Given the description of an element on the screen output the (x, y) to click on. 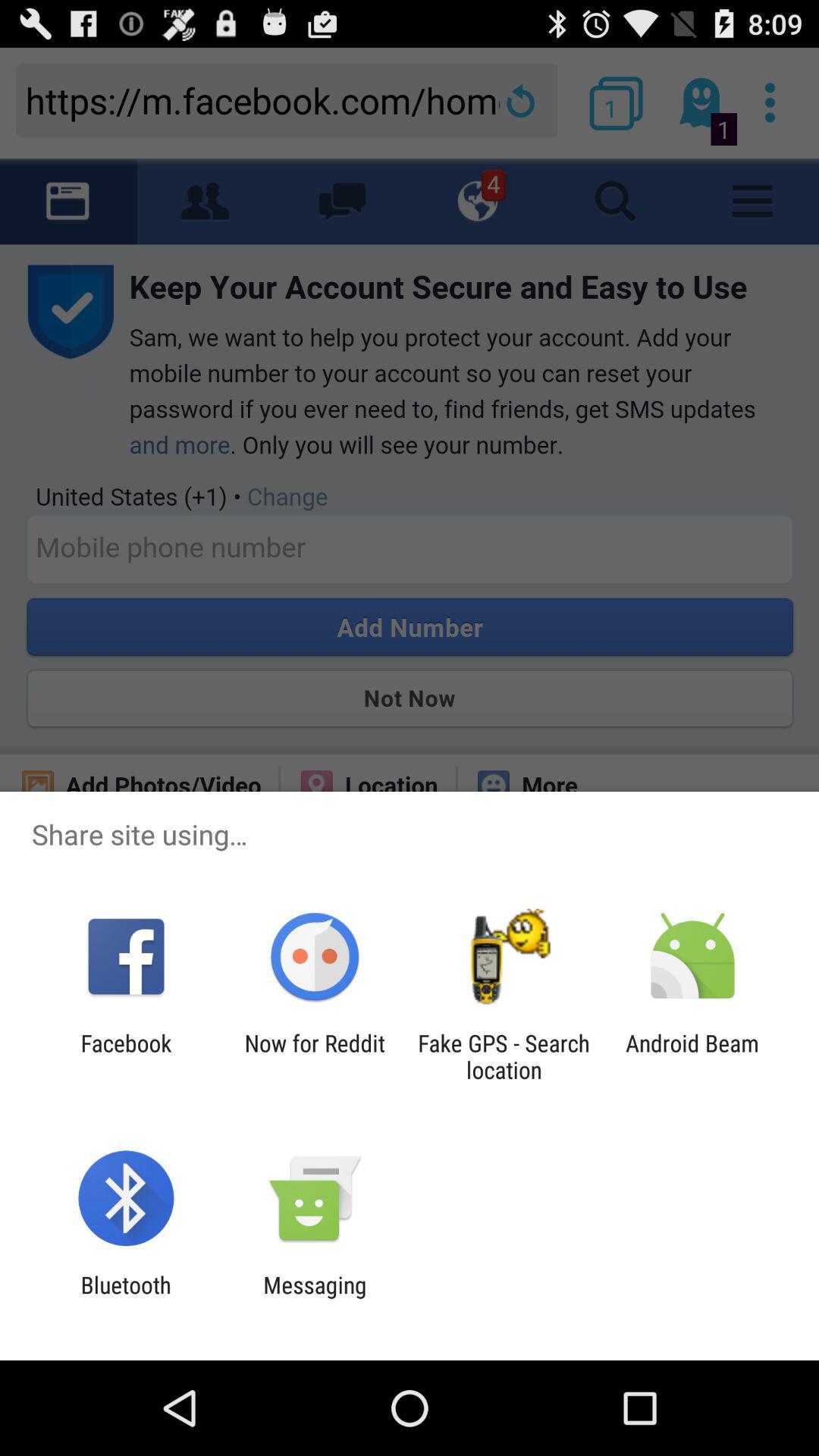
choose the app next to the facebook (314, 1056)
